Given the description of an element on the screen output the (x, y) to click on. 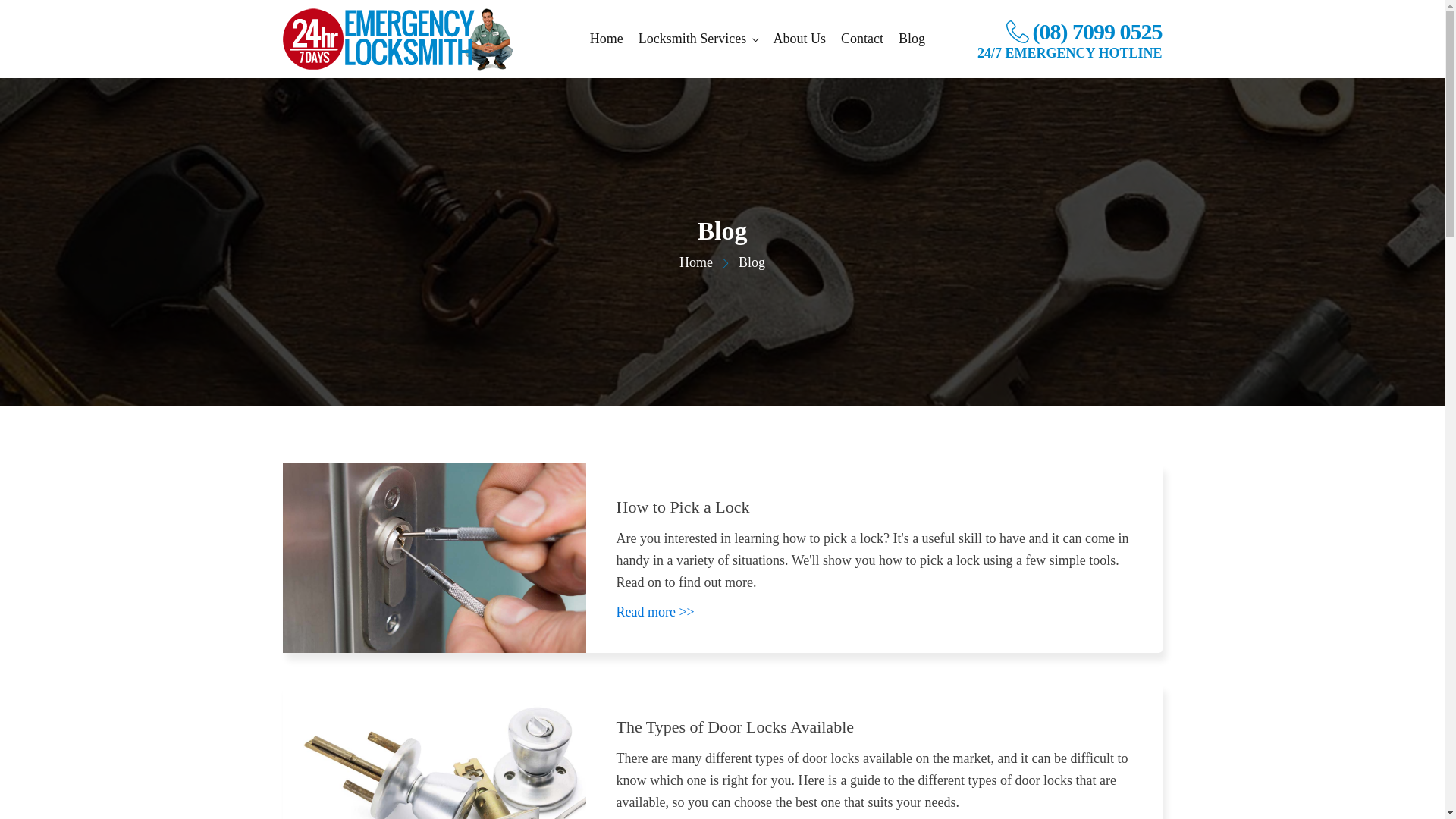
Locksmith Services Element type: text (697, 38)
Blog Element type: text (911, 38)
About Us Element type: text (799, 38)
Contact Element type: text (862, 38)
Home Element type: text (606, 38)
Read more >> Element type: text (654, 612)
(08) 7099 0525 Element type: text (1083, 31)
